Given the description of an element on the screen output the (x, y) to click on. 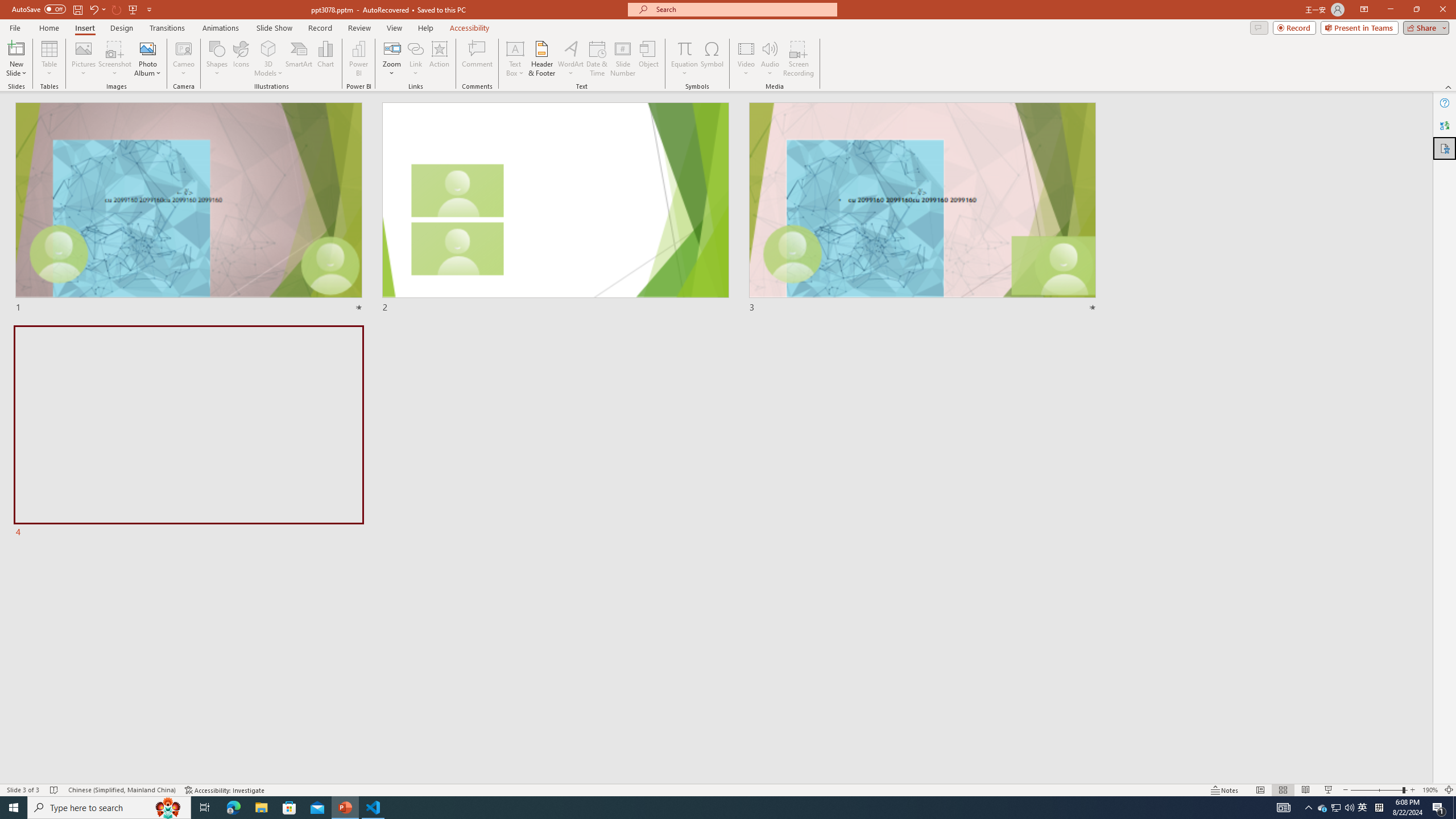
Action (439, 58)
New Photo Album... (147, 48)
Header & Footer... (541, 58)
Screen Recording... (798, 58)
